Given the description of an element on the screen output the (x, y) to click on. 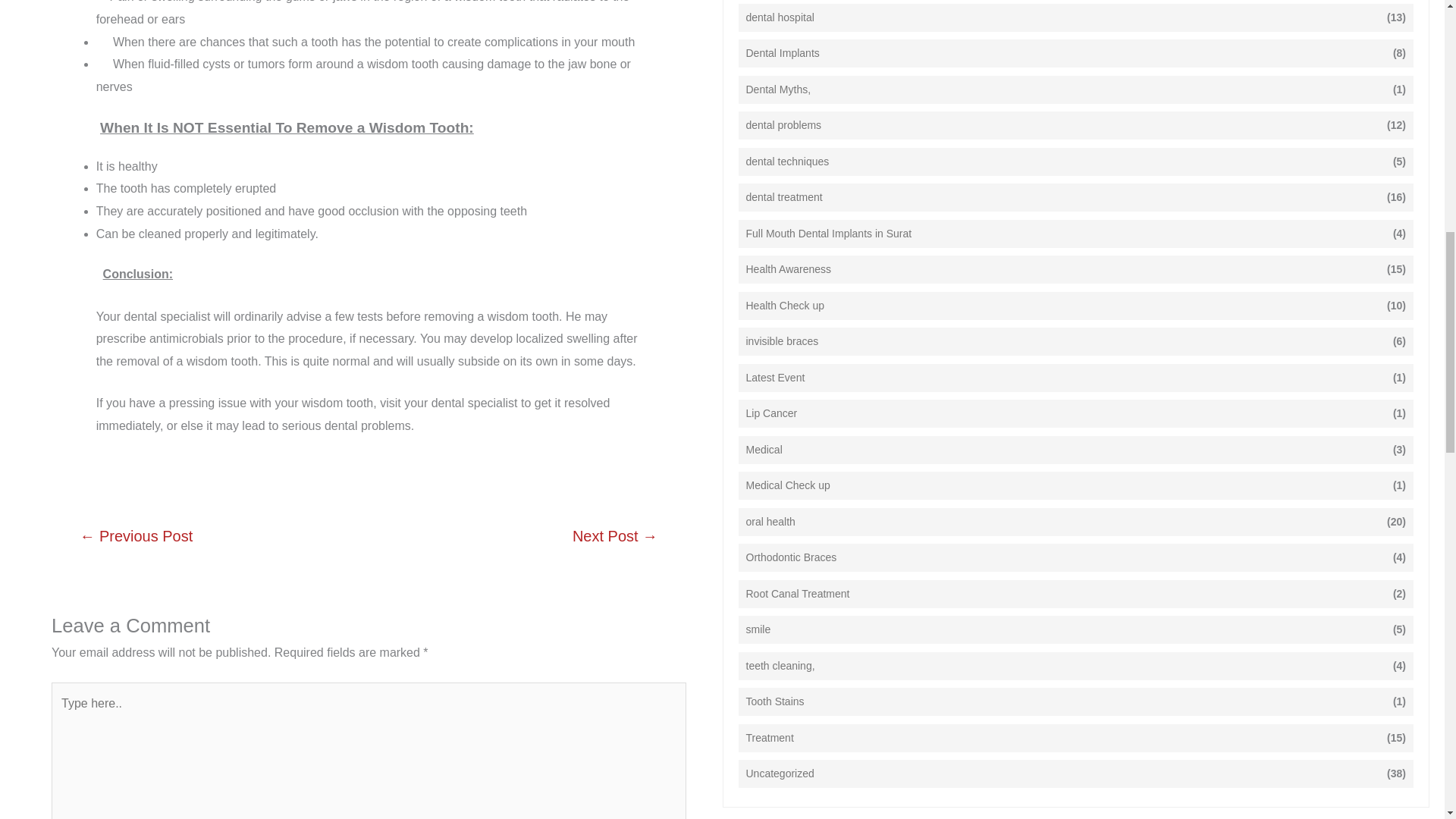
dental problems (783, 125)
Lip Cancer (771, 413)
Health Check up (785, 305)
Full Mouth Dental Implants in Surat (828, 233)
Dental Myths, (777, 89)
oral health (769, 521)
Health Awareness (788, 269)
invisible braces (781, 341)
dental techniques (787, 161)
Latest Event (775, 377)
Dental Implants (782, 53)
dental treatment (783, 197)
Medical Check up (787, 485)
dental hospital (779, 17)
Medical (764, 449)
